Given the description of an element on the screen output the (x, y) to click on. 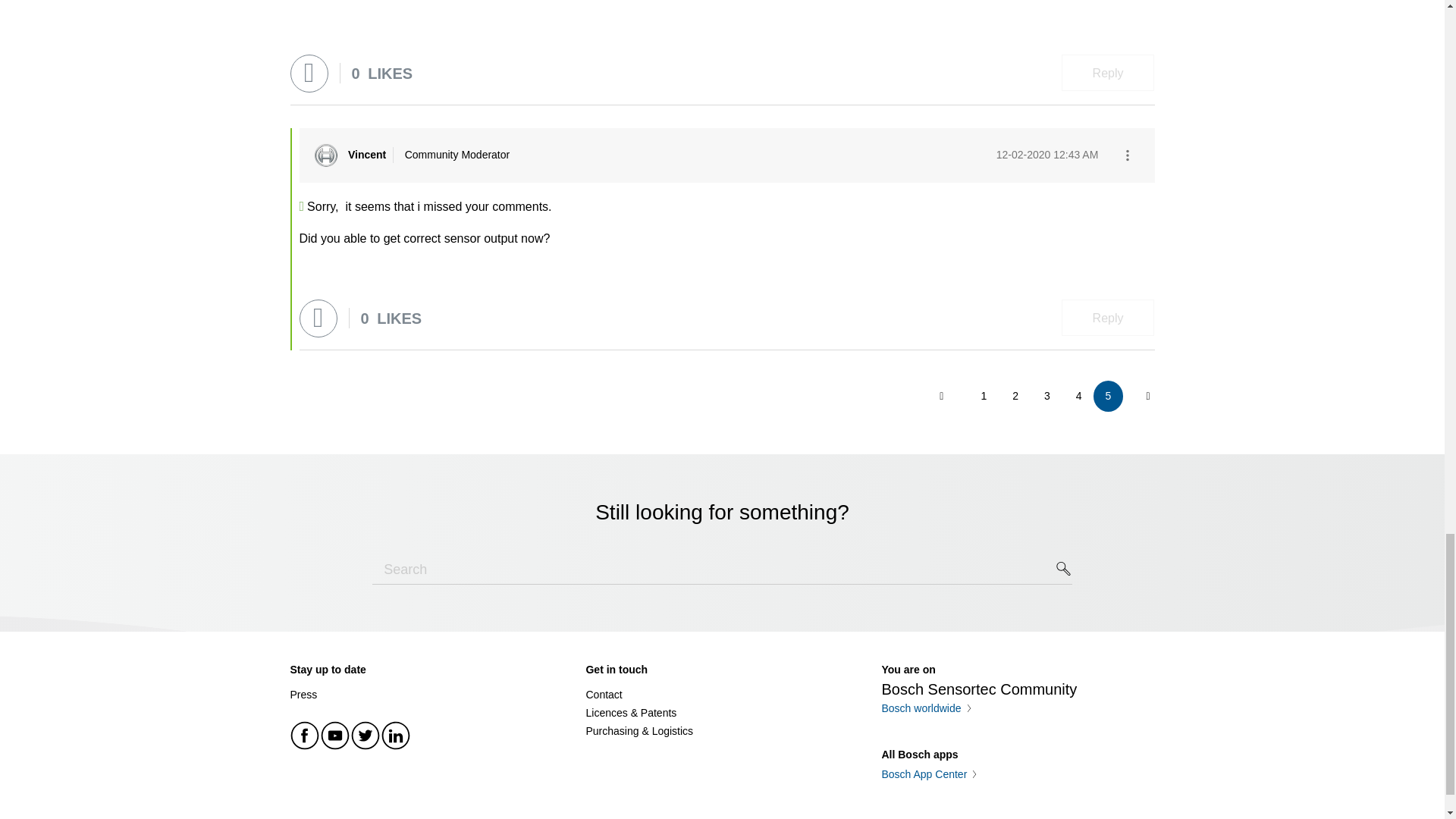
Facebook (304, 735)
Icon search (1064, 568)
Twitter (365, 735)
Youtube (335, 735)
Linkedin (395, 735)
Icon up (1397, 816)
